Given the description of an element on the screen output the (x, y) to click on. 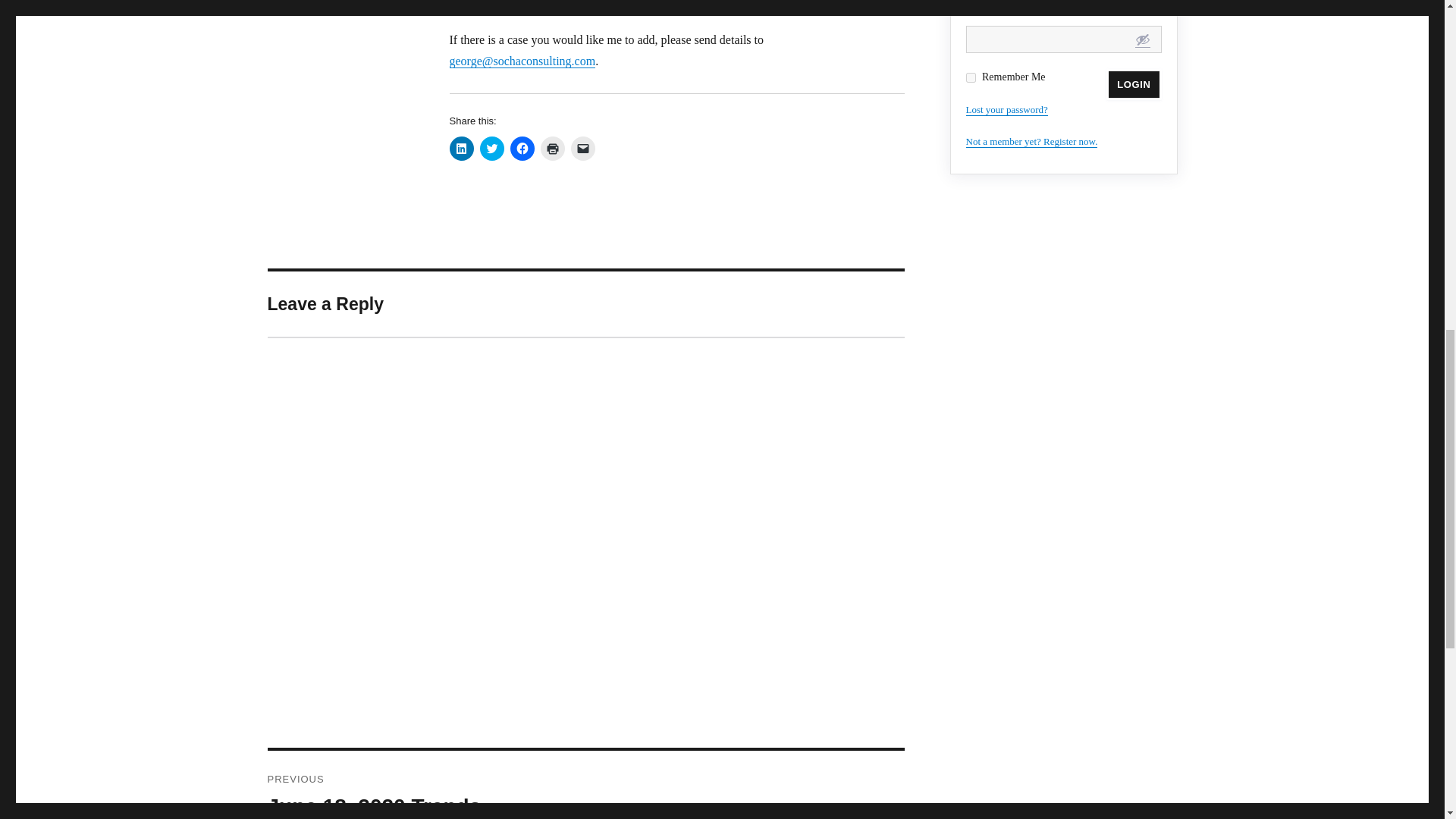
forever (970, 77)
Click to print (552, 148)
Login (1133, 83)
Click to share on Facebook (521, 148)
Lost your password? (1007, 109)
Click to share on LinkedIn (460, 148)
Comment Form (585, 785)
Login (491, 148)
Not a member yet? Register now. (1133, 83)
Click to email a link to a friend (1031, 141)
Show password (582, 148)
